Given the description of an element on the screen output the (x, y) to click on. 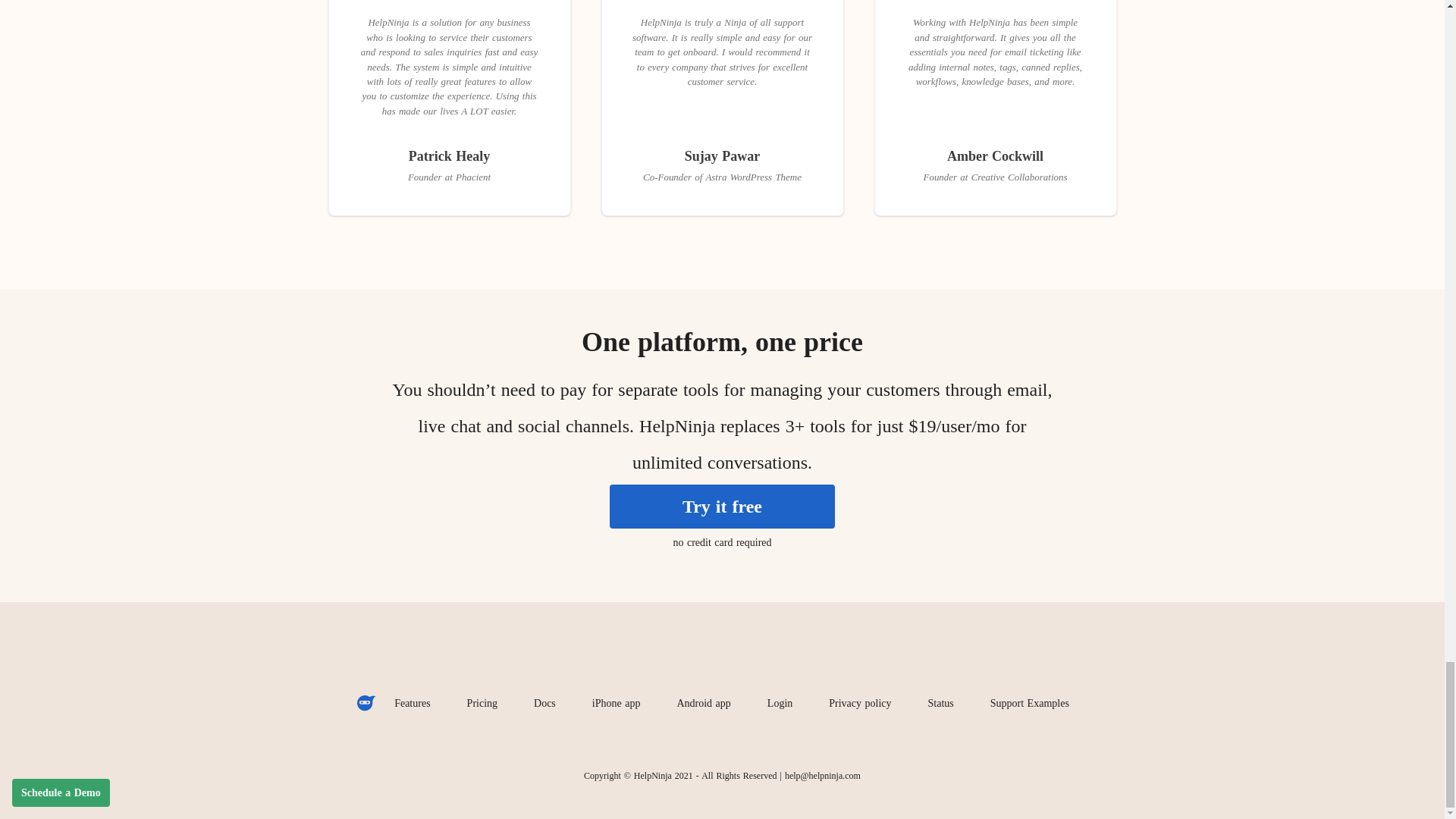
Pricing (481, 703)
Support Examples (1029, 703)
Privacy policy (859, 703)
Status (941, 703)
iPhone app (616, 703)
Login (779, 703)
Android app (703, 703)
Features (411, 703)
Docs (544, 703)
Try it free (722, 506)
